Given the description of an element on the screen output the (x, y) to click on. 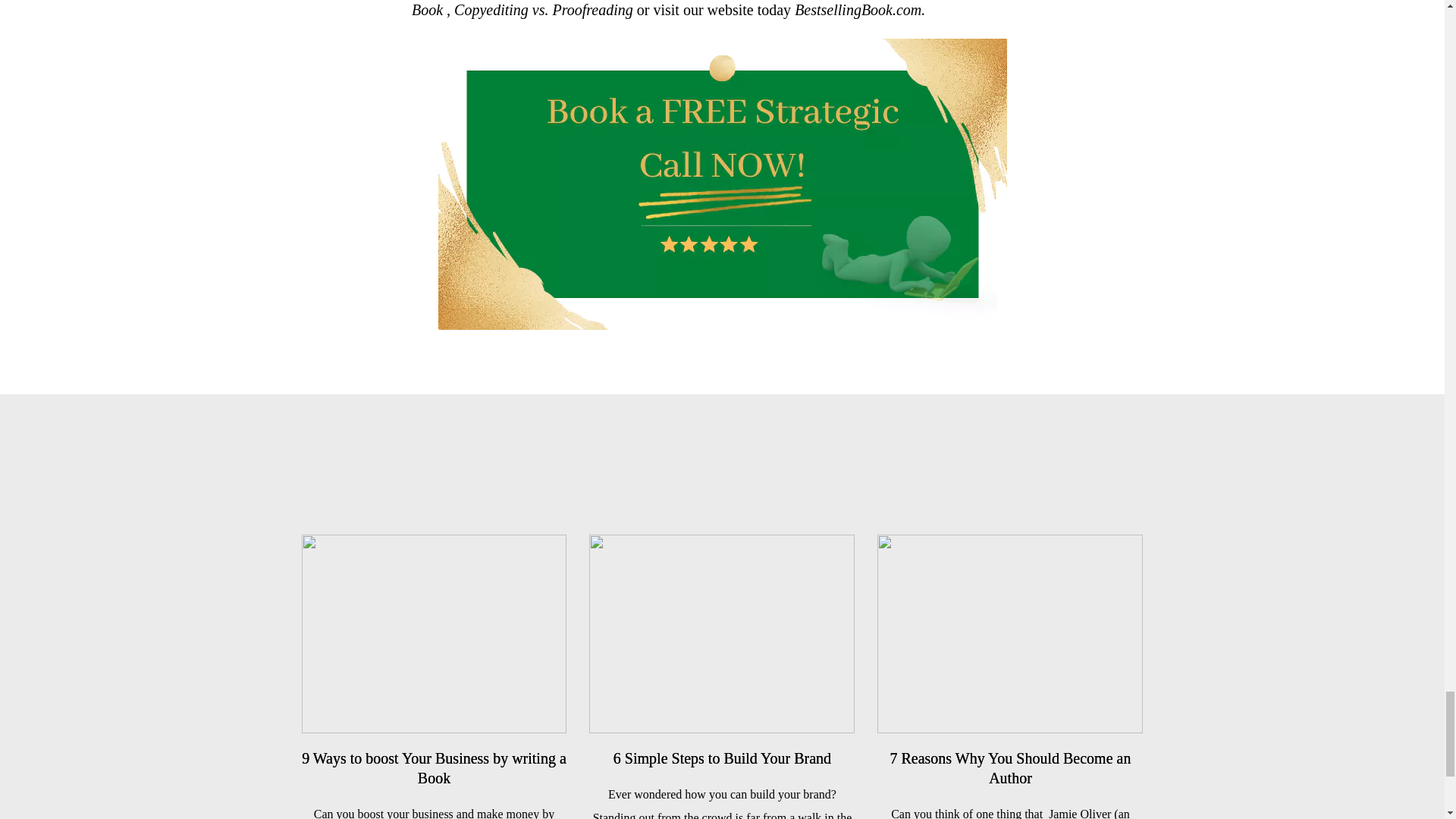
How to Start Writing a Book (718, 9)
BestsellingBook.com (857, 9)
7 Reasons Why You Should Become an Author (1010, 768)
Copyediting vs. Proofreading (543, 9)
9 Ways to boost Your Business by writing a Book (433, 768)
6 Simple Steps to Build Your Brand (721, 758)
